Given the description of an element on the screen output the (x, y) to click on. 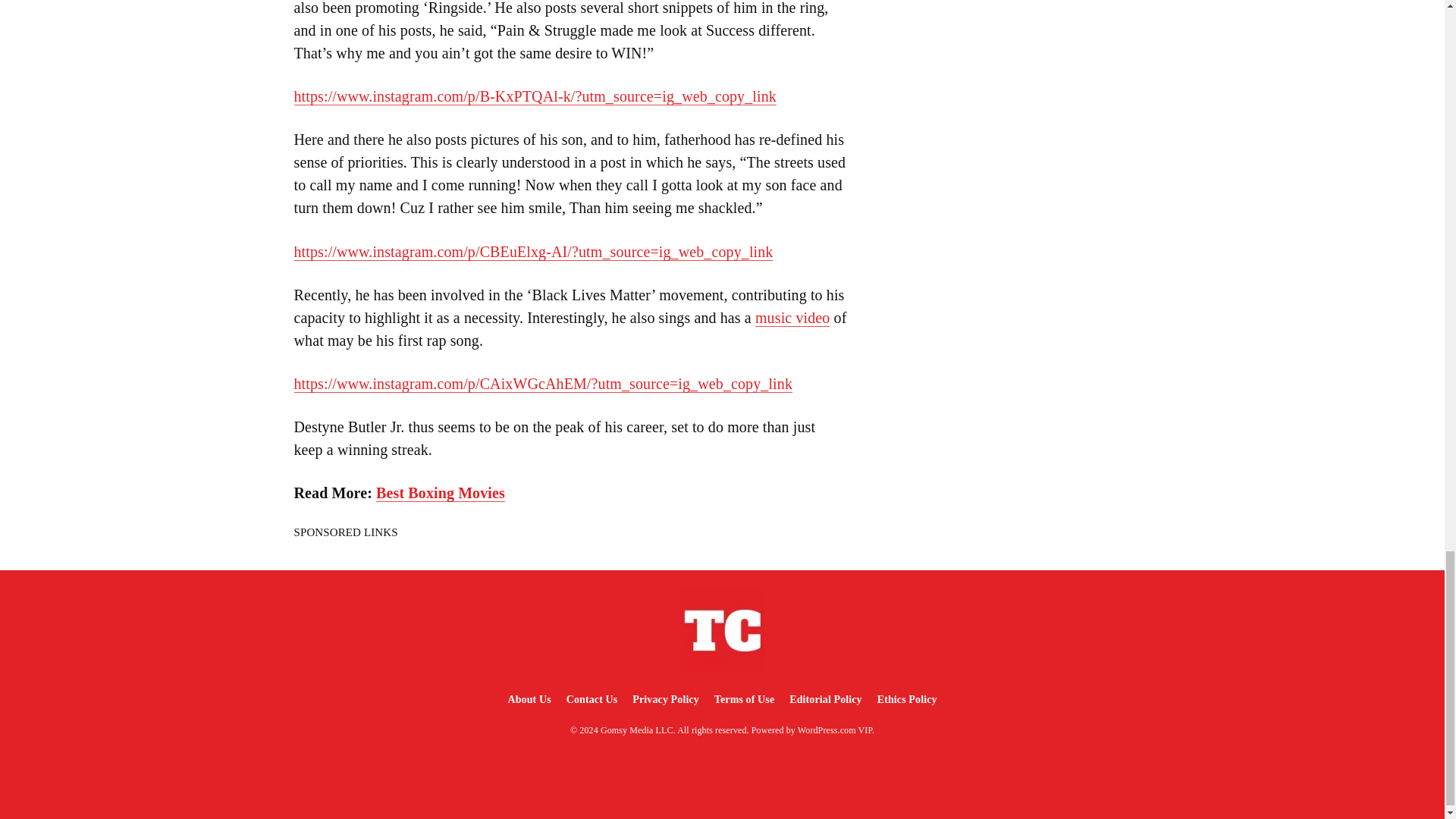
Ethics Policy (906, 699)
About Us (528, 699)
Contact Us (592, 699)
Terms of Use (743, 699)
Best Boxing Movies (440, 493)
Privacy Policy (665, 699)
WordPress.com VIP (834, 729)
Editorial Policy (825, 699)
music video (792, 317)
